Given the description of an element on the screen output the (x, y) to click on. 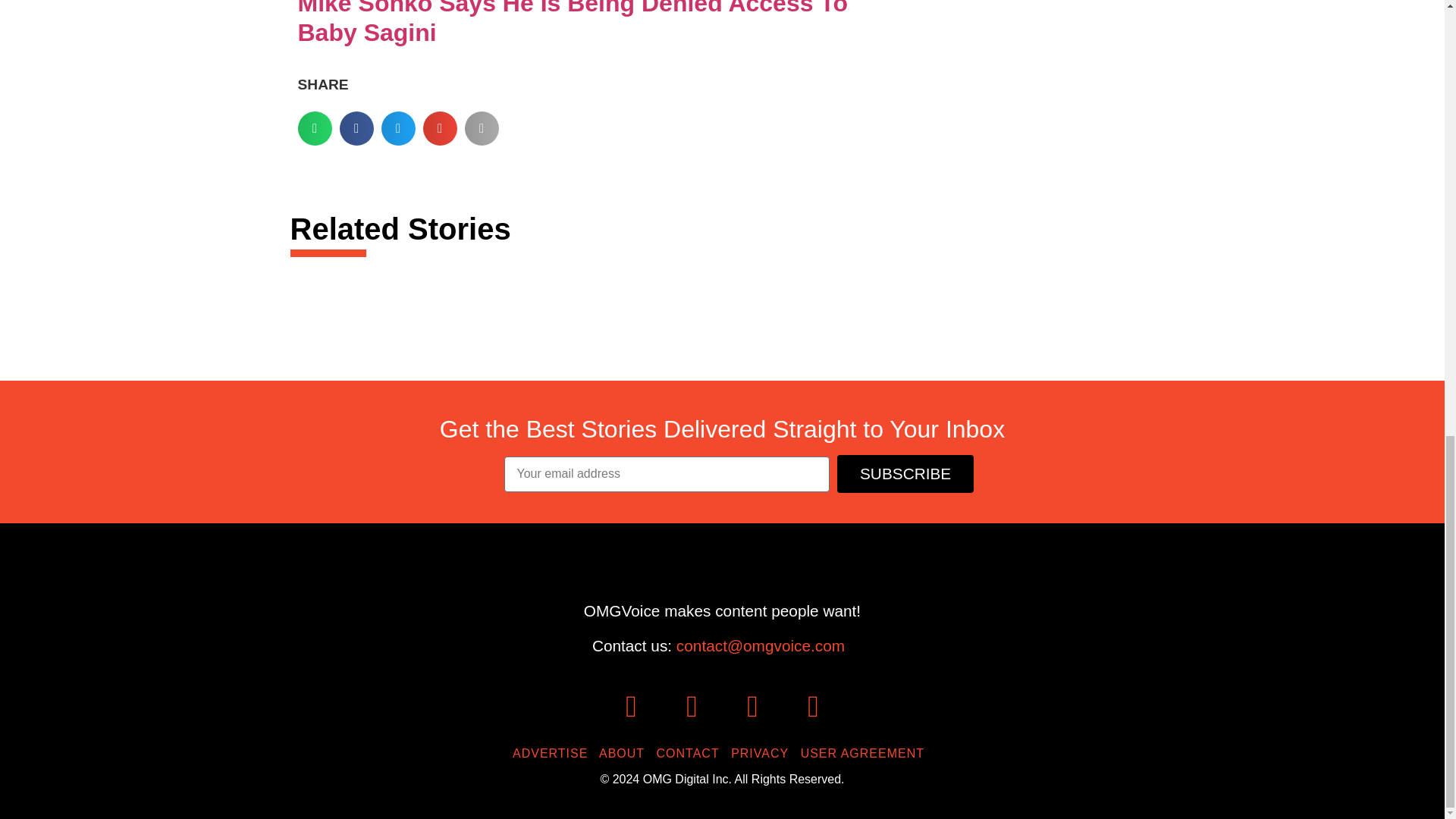
Mike Sonko Says He Is Being Denied Access To Baby Sagini (572, 22)
CONTACT (691, 753)
SUBSCRIBE (905, 474)
ABOUT (625, 753)
USER AGREEMENT (865, 753)
PRIVACY (763, 753)
ADVERTISE (553, 753)
